Given the description of an element on the screen output the (x, y) to click on. 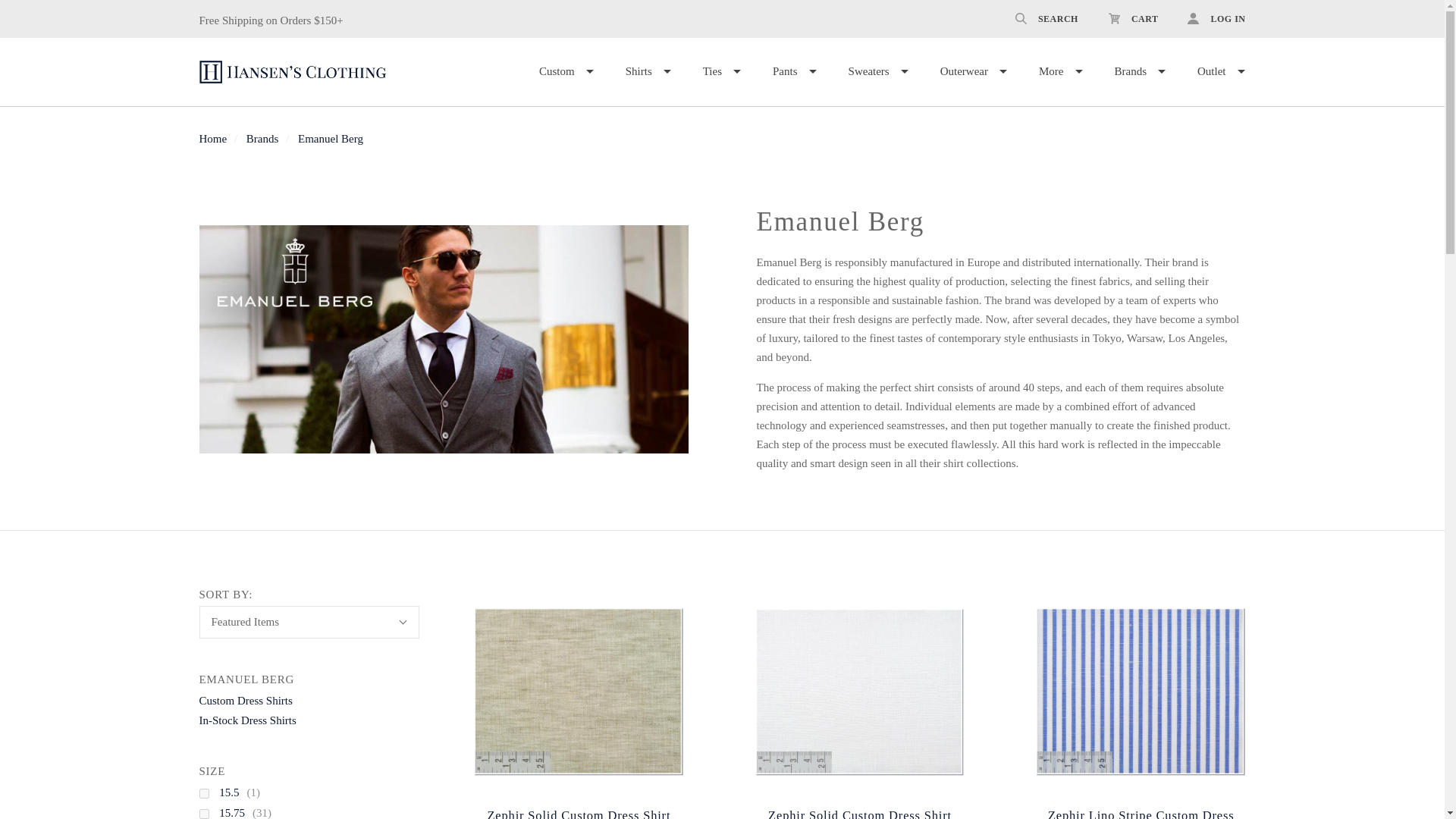
SEARCH (1046, 18)
15.5 (237, 792)
LOG IN (1208, 18)
Shirts (648, 71)
on (203, 814)
In-Stock Dress Shirts (246, 720)
15.75 (240, 811)
Custom (566, 71)
Ties (721, 71)
Pants (794, 71)
on (203, 793)
CART (1133, 18)
Custom Dress Shirts (245, 700)
